Given the description of an element on the screen output the (x, y) to click on. 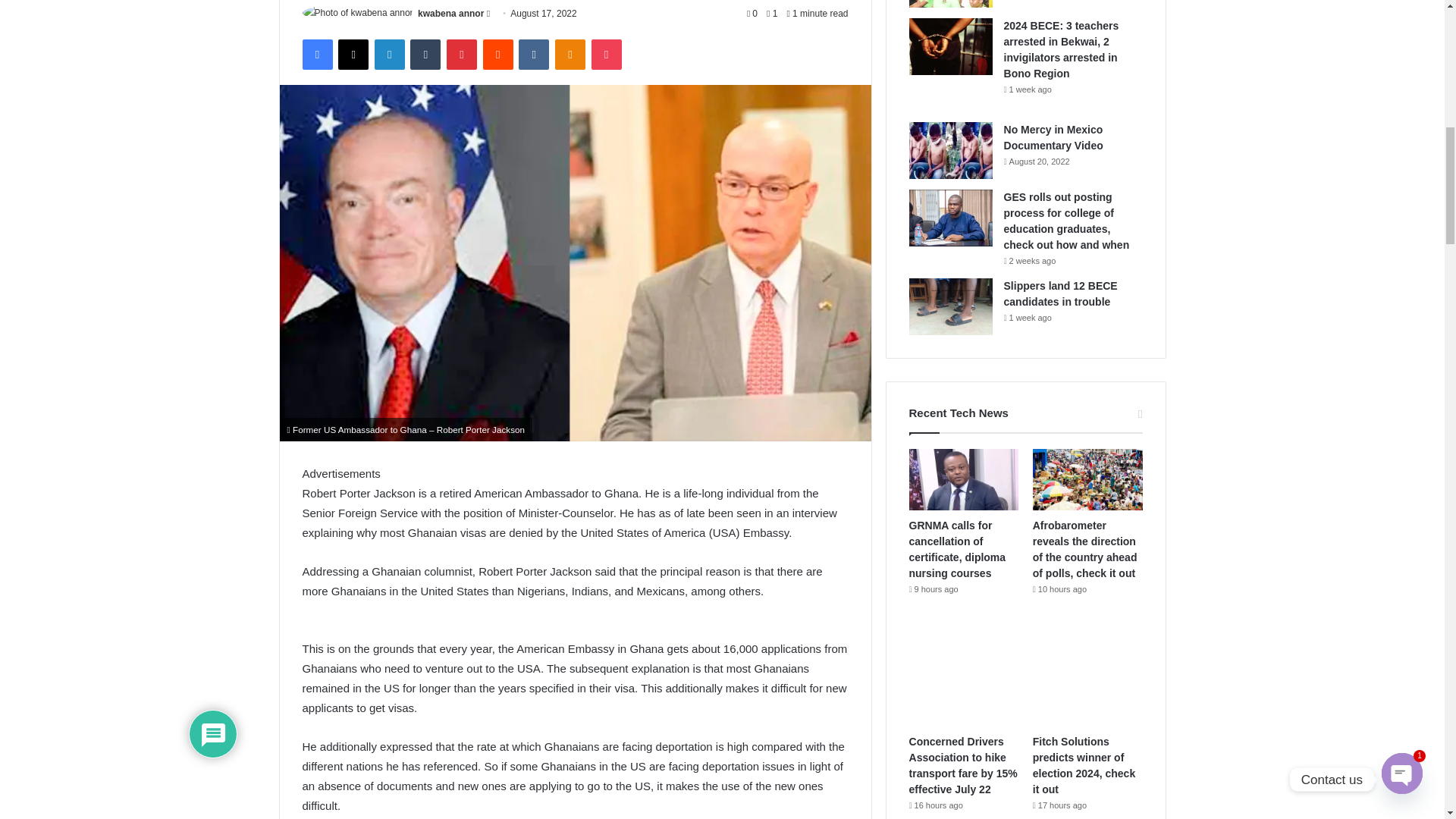
LinkedIn (389, 54)
Reddit (498, 54)
Reddit (498, 54)
Facebook (316, 54)
LinkedIn (389, 54)
Pinterest (461, 54)
Odnoklassniki (569, 54)
X (352, 54)
VKontakte (533, 54)
Facebook (316, 54)
Tumblr (425, 54)
Tumblr (425, 54)
Pinterest (461, 54)
X (352, 54)
kwabena annor (450, 13)
